Given the description of an element on the screen output the (x, y) to click on. 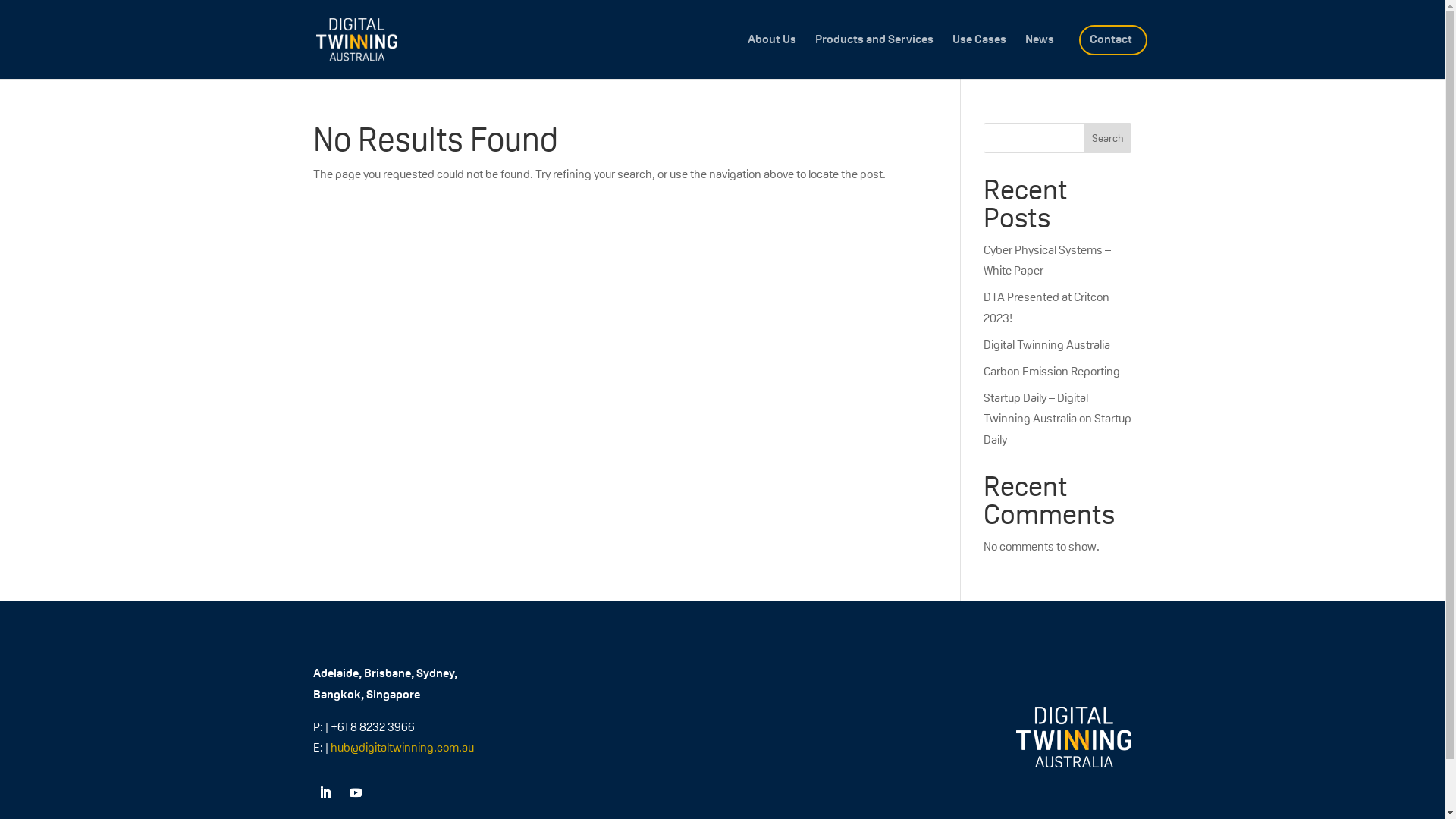
Carbon Emission Reporting Element type: text (1051, 371)
Contact Element type: text (1109, 56)
DTA-logo-lg Element type: hover (1074, 736)
Follow on LinkedIn Element type: hover (324, 792)
News Element type: text (1039, 56)
Digital Twinning Australia Element type: text (1046, 344)
Use Cases Element type: text (979, 56)
About Us Element type: text (771, 56)
hub@digitaltwinning.com.au Element type: text (401, 747)
Products and Services Element type: text (873, 56)
DTA Presented at Critcon 2023! Element type: text (1046, 306)
Search Element type: text (1107, 137)
Follow on Youtube Element type: hover (354, 792)
